Given the description of an element on the screen output the (x, y) to click on. 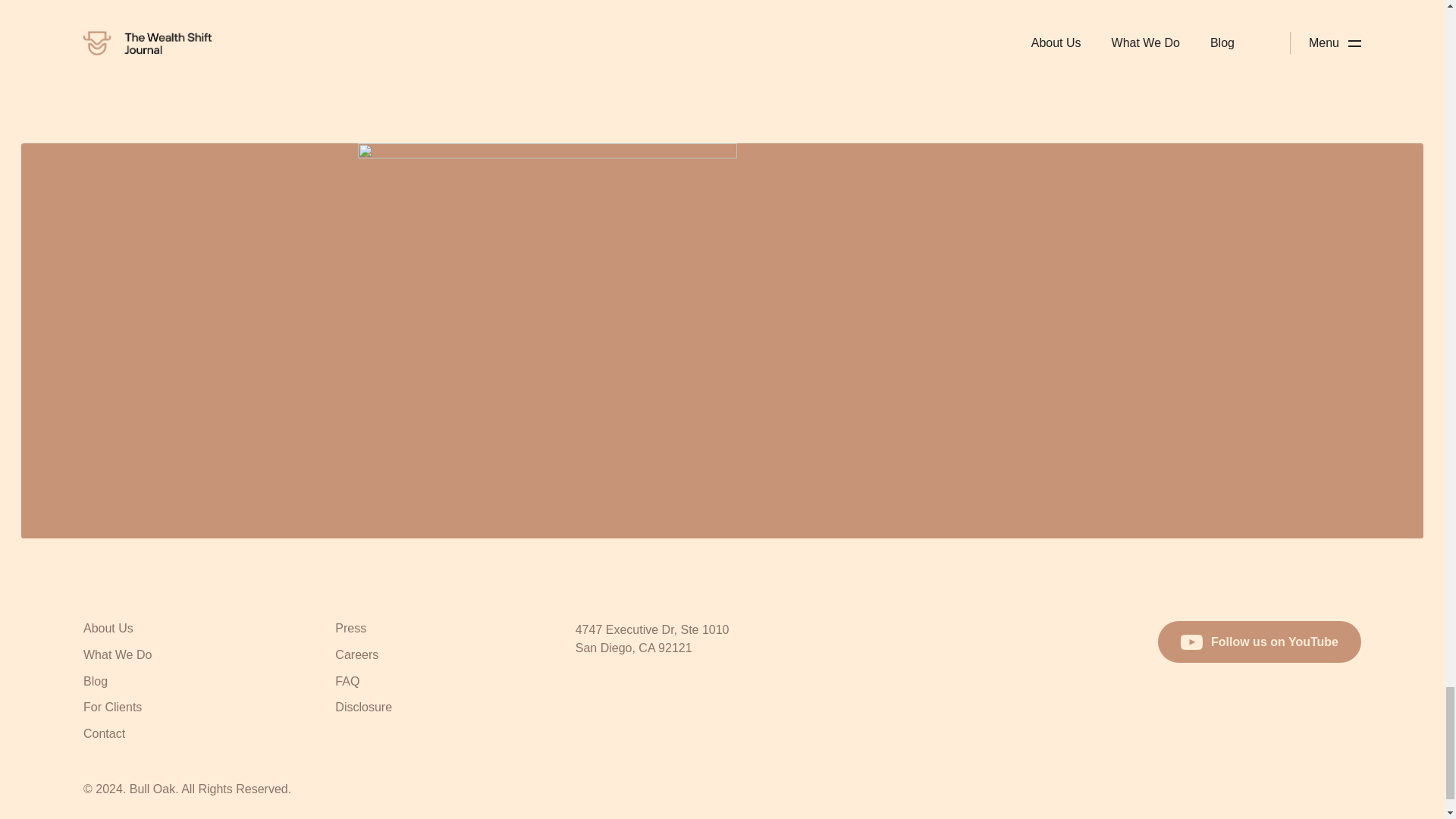
Press (350, 629)
Blog (94, 682)
What We Do (116, 656)
About Us (107, 629)
For Clients (111, 709)
Disclosure (362, 709)
Careers (356, 656)
FAQ (346, 682)
Contact (103, 735)
